Given the description of an element on the screen output the (x, y) to click on. 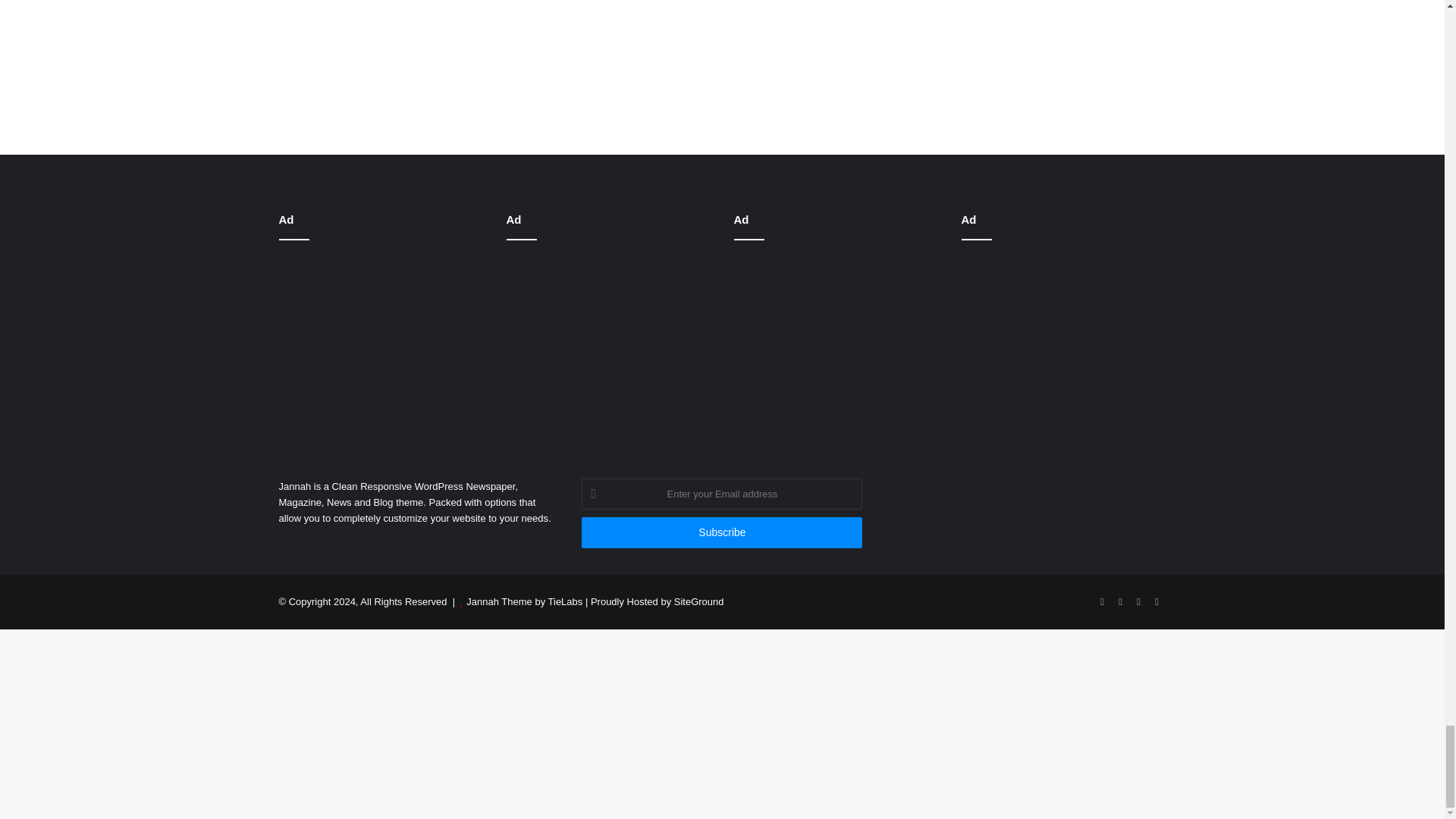
Subscribe (720, 531)
